Given the description of an element on the screen output the (x, y) to click on. 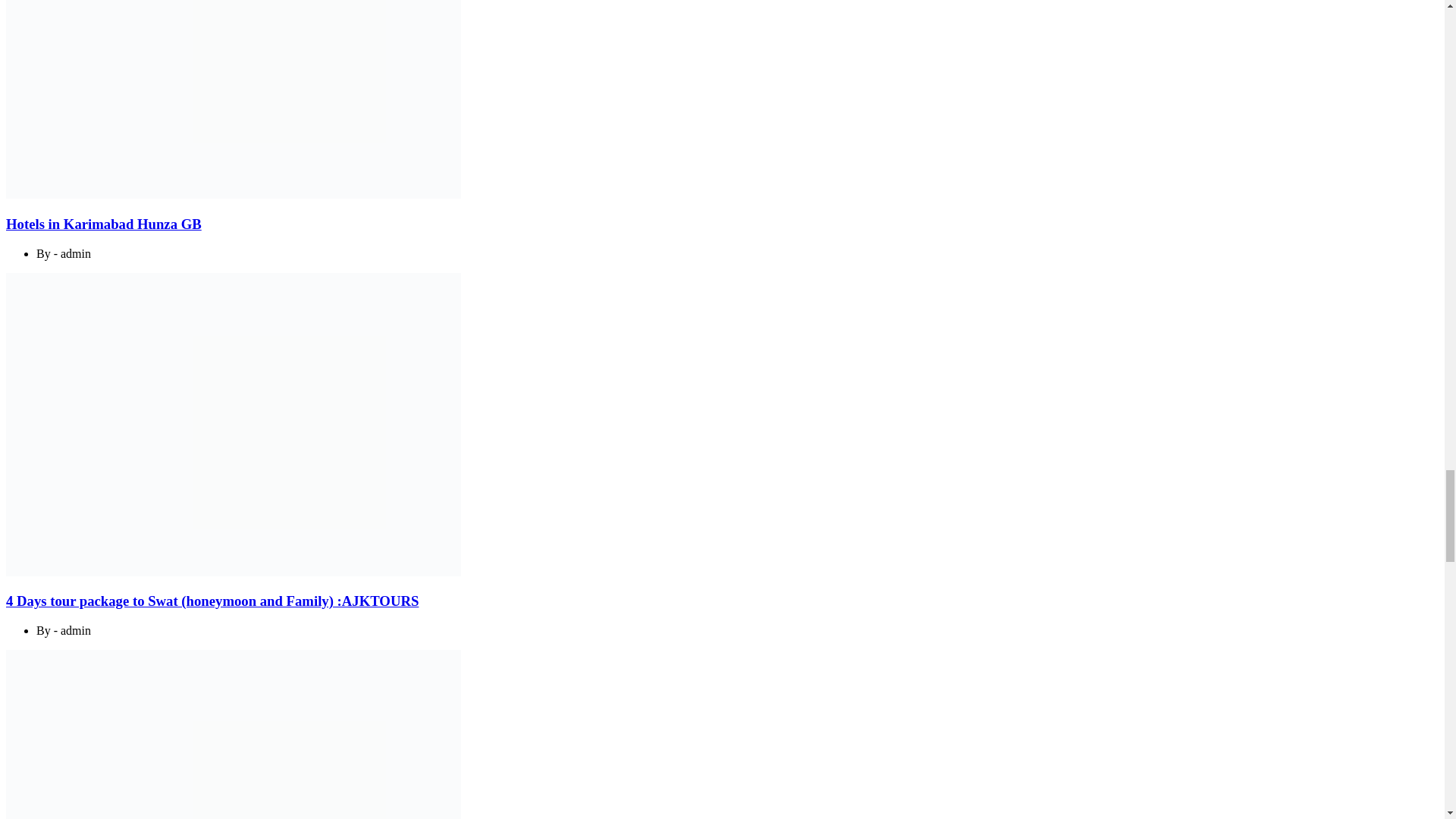
Hotels in Karimabad Hunza GB (103, 223)
